Given the description of an element on the screen output the (x, y) to click on. 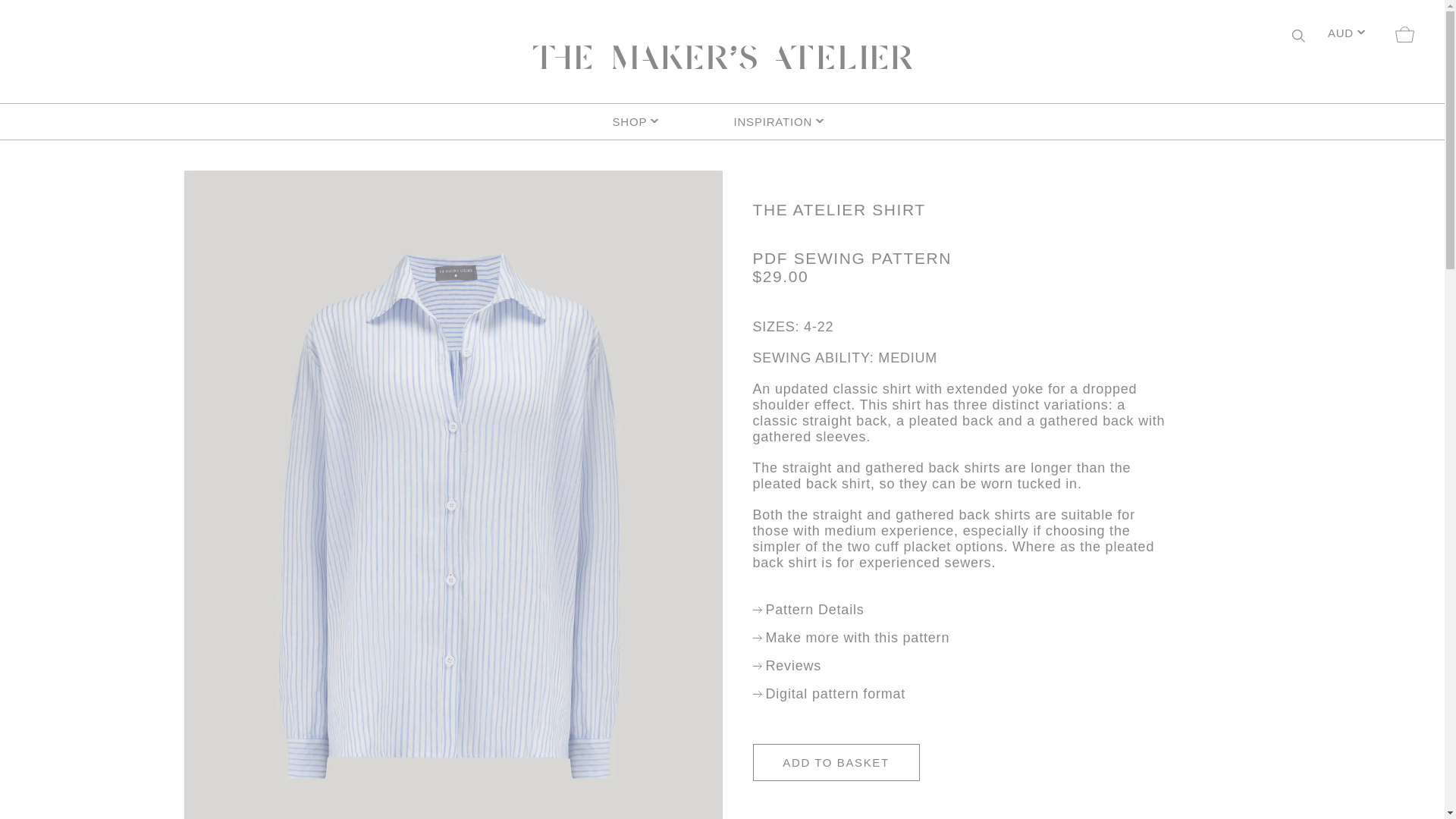
AUD (1345, 34)
Make more with this pattern (850, 637)
ADD TO BASKET (835, 762)
Digital pattern format (828, 693)
INSPIRATION (782, 121)
Reviews (786, 666)
Pattern Details (807, 609)
SHOP (660, 121)
